Given the description of an element on the screen output the (x, y) to click on. 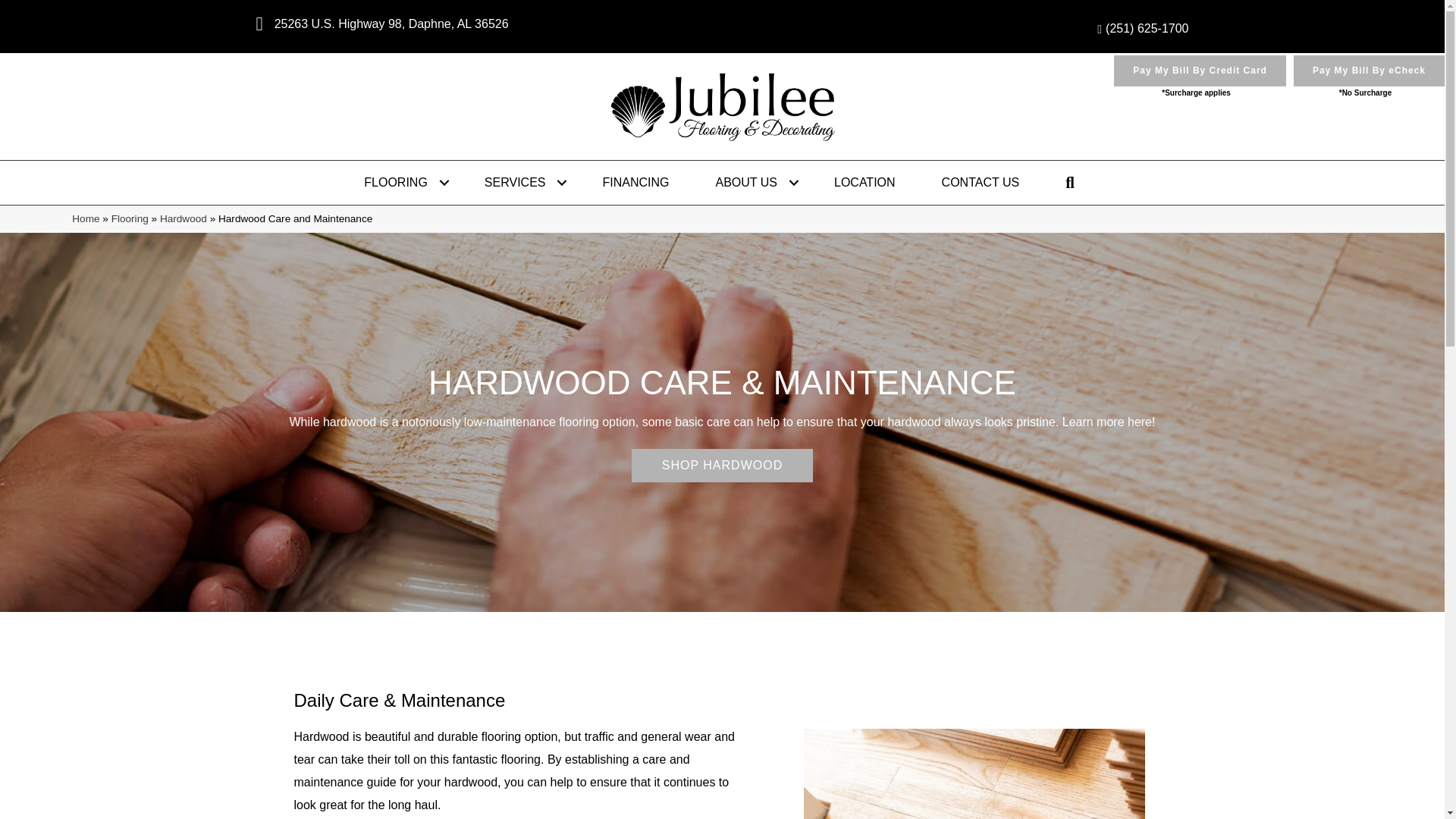
Pay My Bill By Credit Card (1199, 70)
Click Here (721, 465)
FLOORING (400, 182)
JubileeLogo (721, 105)
25263 U.S. Highway 98, Daphne, AL 36526 (391, 23)
